Given the description of an element on the screen output the (x, y) to click on. 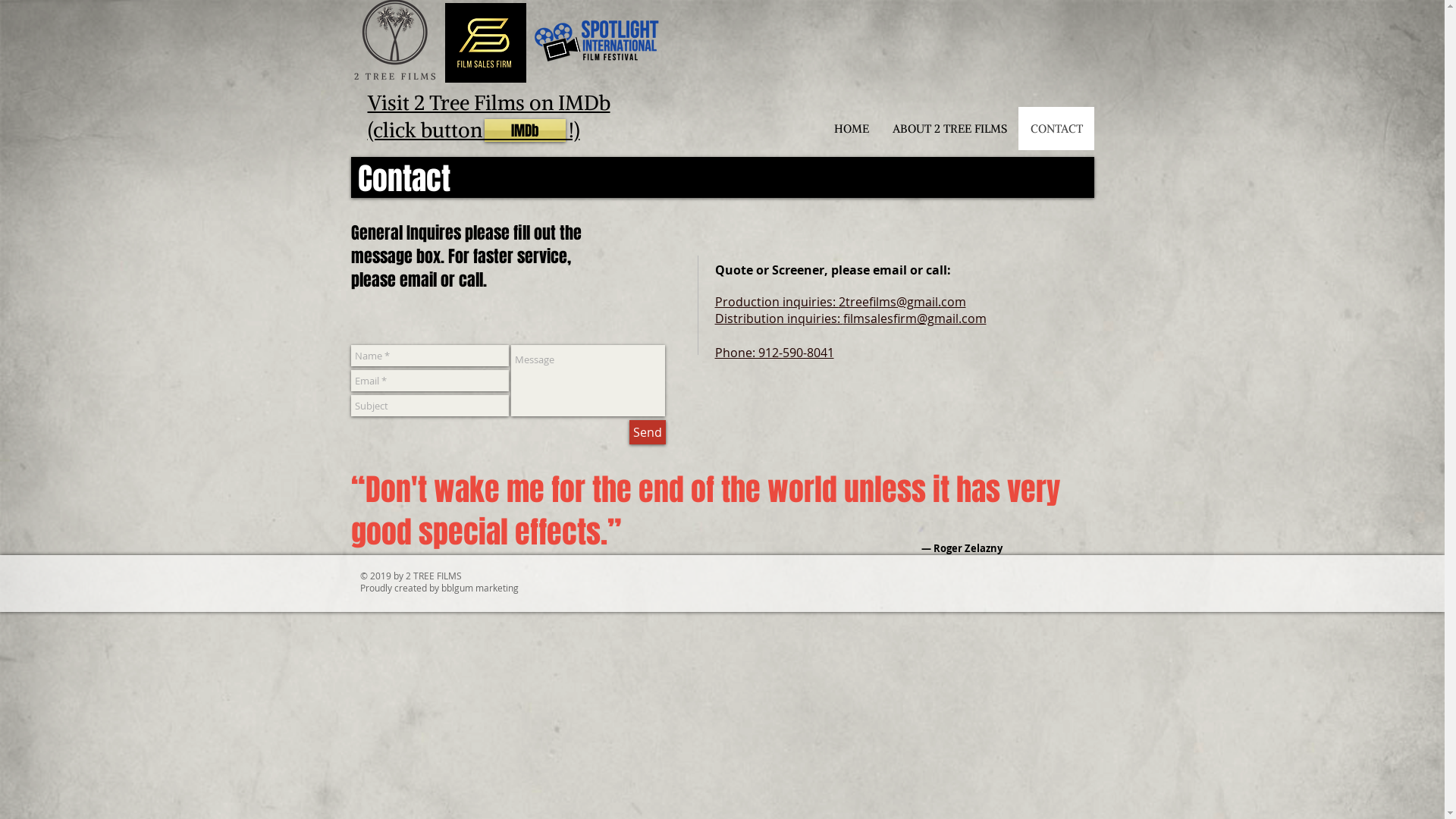
CONTACT Element type: text (1055, 128)
Copy of TWO TREE FILMS_clipped_rev_1.png Element type: hover (484, 42)
Send Element type: text (647, 432)
ABOUT 2 TREE FILMS Element type: text (948, 128)
filmsalesfirm@gmail.com Element type: text (914, 318)
HOME Element type: text (851, 128)
IMDb Element type: text (523, 130)
2treefilms@gmail.com Element type: text (902, 301)
